Given the description of an element on the screen output the (x, y) to click on. 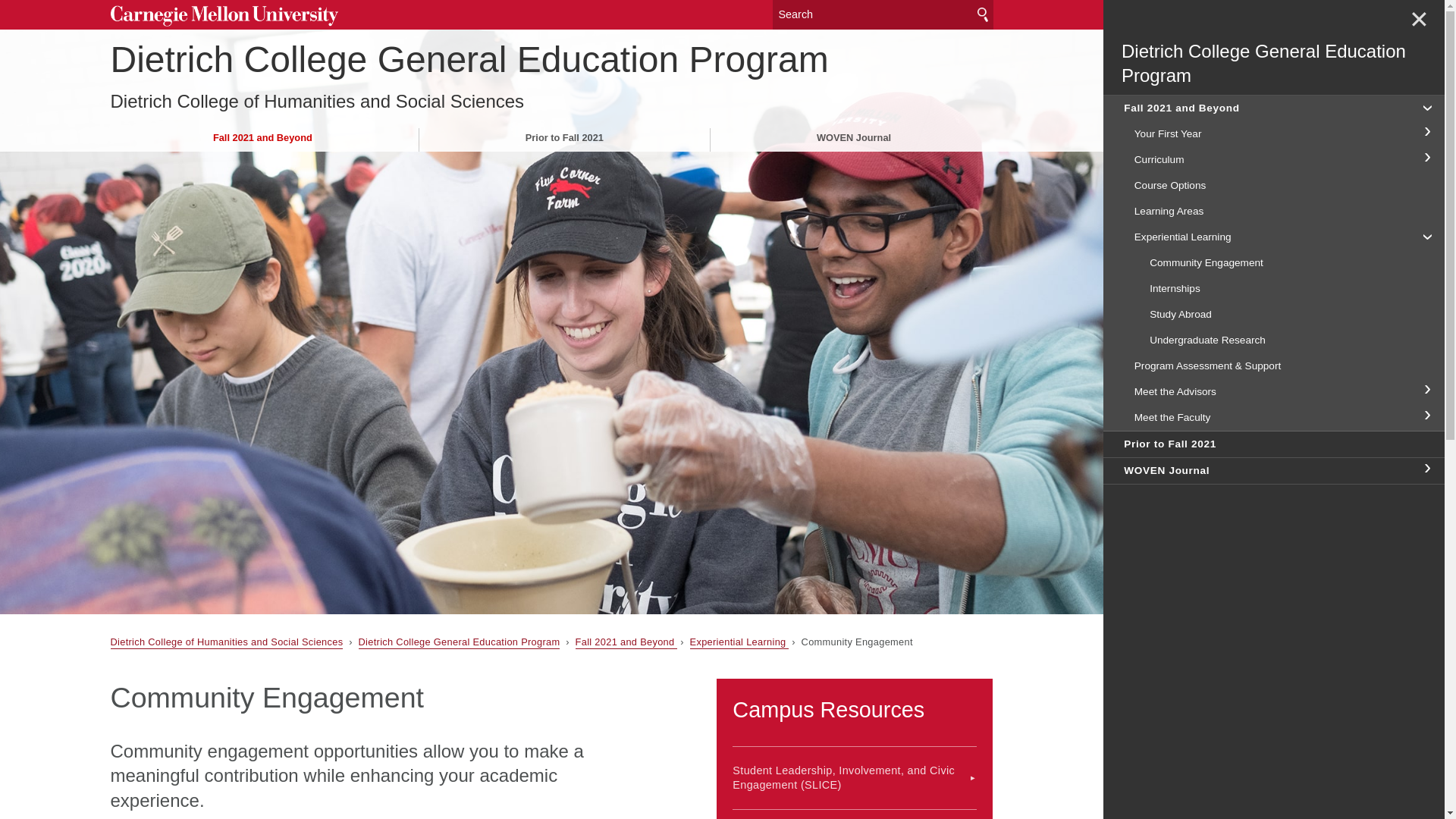
Dietrich College of Humanities and Social Sciences (317, 101)
Dietrich College General Education Program (469, 59)
WOVEN Journal (853, 137)
Carnegie Mellon University (223, 15)
Dietrich College General Education Program (459, 642)
Fall 2021 and Beyond (261, 137)
toggle Your First Year section (1426, 132)
toggle Fall 2021 and Beyond section (1426, 106)
Gelfand Center (854, 814)
Prior to Fall 2021 (563, 137)
Dietrich College of Humanities and Social Sciences (226, 642)
Fall 2021 and Beyond (626, 642)
Dietrich College General Education Program (1279, 63)
Experiential Learning (739, 642)
